Given the description of an element on the screen output the (x, y) to click on. 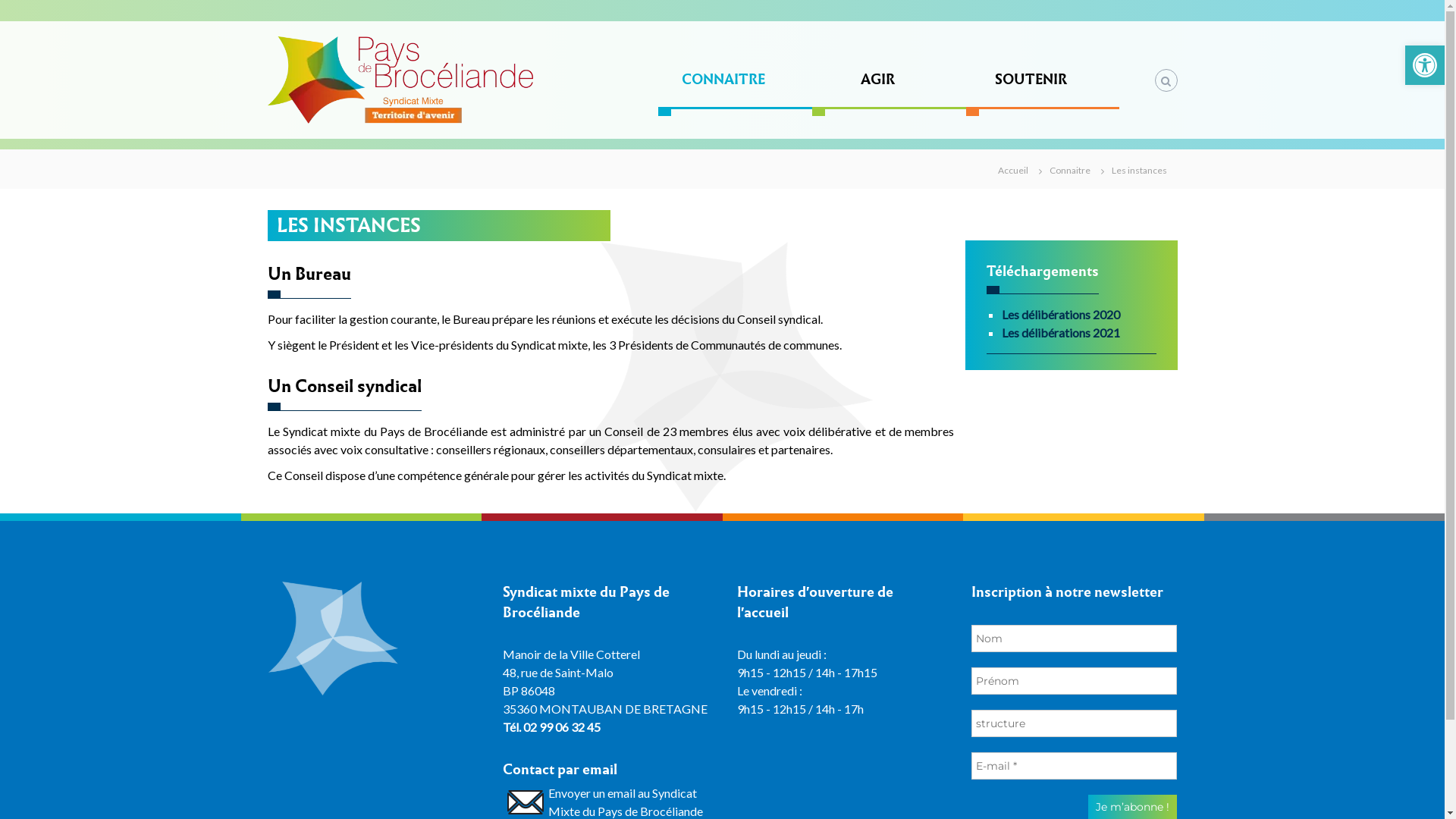
Nom Element type: hover (1074, 638)
E-mail Element type: hover (1074, 765)
Connaitre Element type: text (1069, 168)
SOUTENIR Element type: text (1031, 78)
Accueil Element type: text (1012, 168)
CONNAITRE Element type: text (723, 78)
structure Element type: hover (1074, 723)
AGIR Element type: text (877, 78)
